Given the description of an element on the screen output the (x, y) to click on. 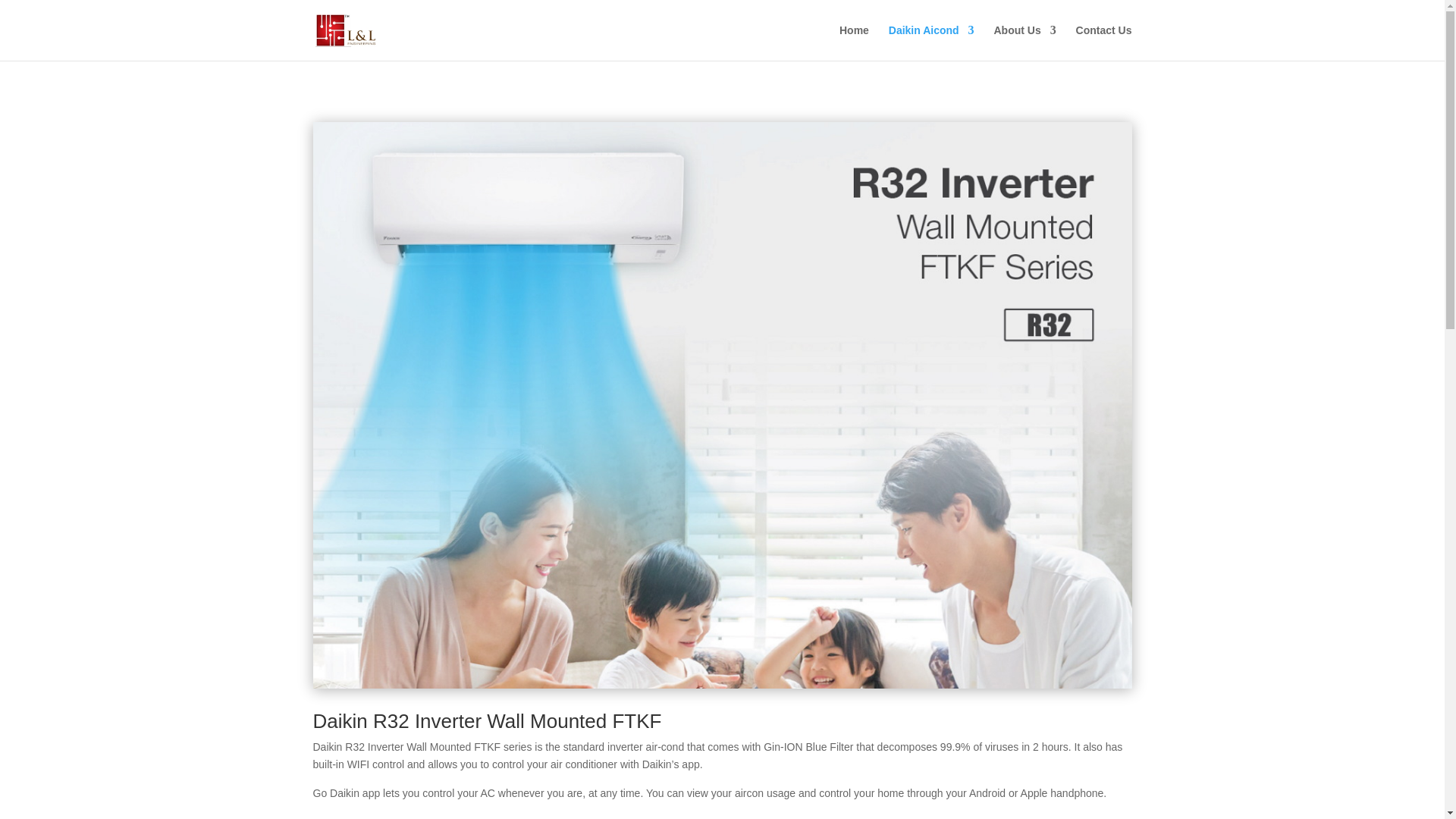
About Us (1023, 42)
Contact Us (1103, 42)
Daikin Aicond (931, 42)
